Given the description of an element on the screen output the (x, y) to click on. 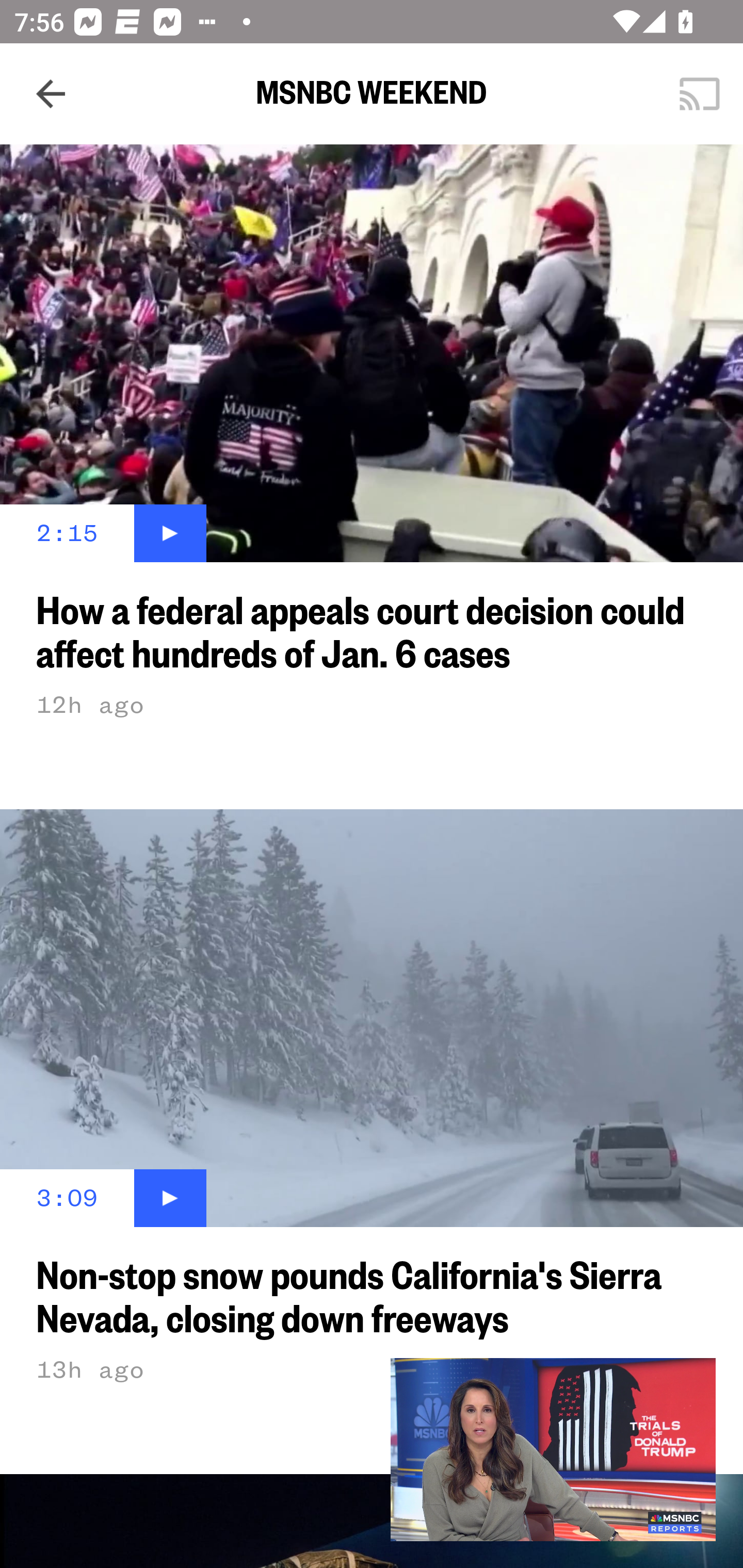
Navigate up (50, 93)
Cast. Disconnected (699, 93)
